Given the description of an element on the screen output the (x, y) to click on. 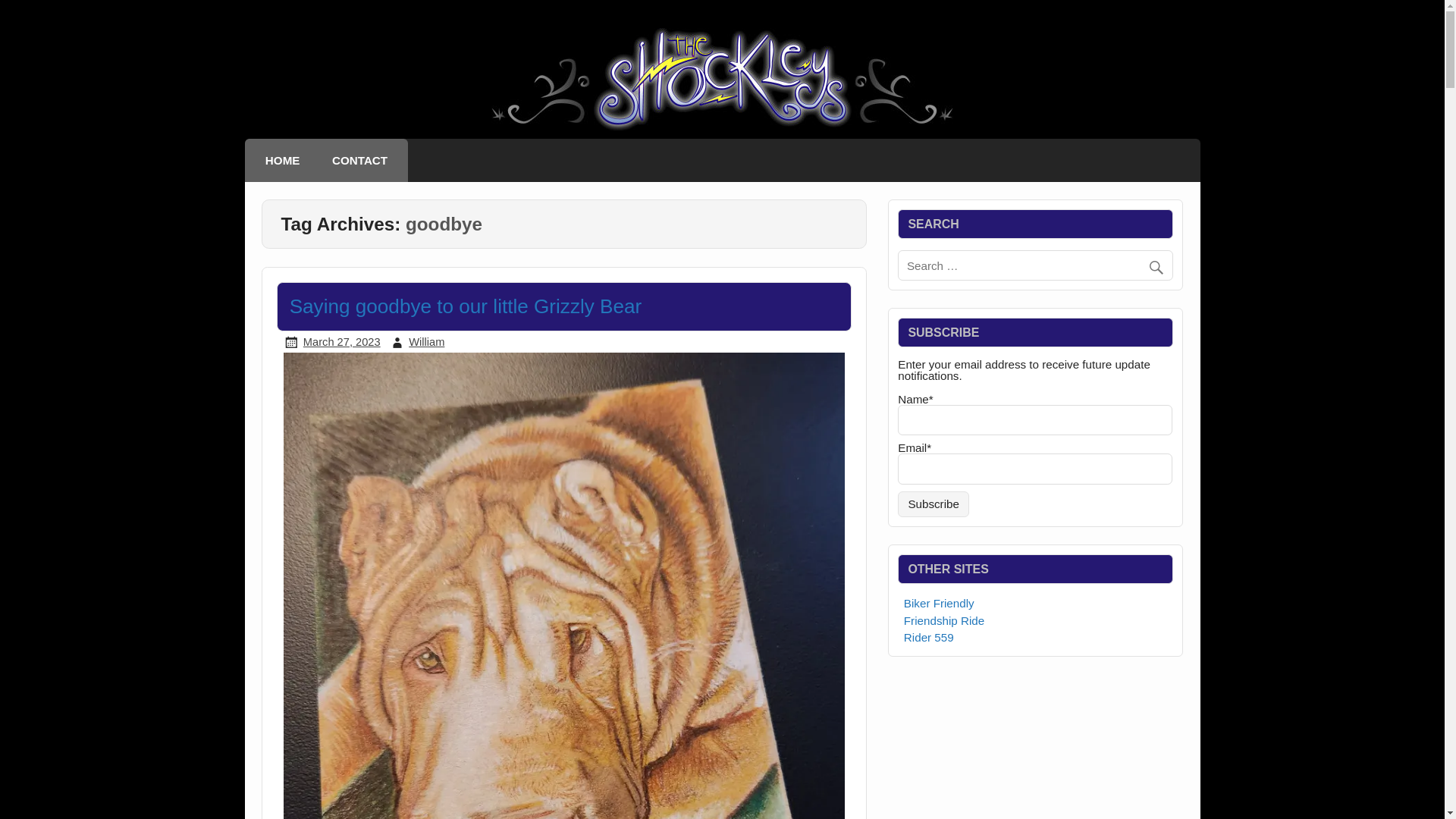
The Shockleys (721, 132)
View all posts by William (426, 341)
CONTACT (359, 160)
Subscribe (933, 503)
12:03 PM (341, 341)
March 27, 2023 (341, 341)
William (426, 341)
Saying goodbye to our little Grizzly Bear (465, 305)
HOME (281, 160)
